Given the description of an element on the screen output the (x, y) to click on. 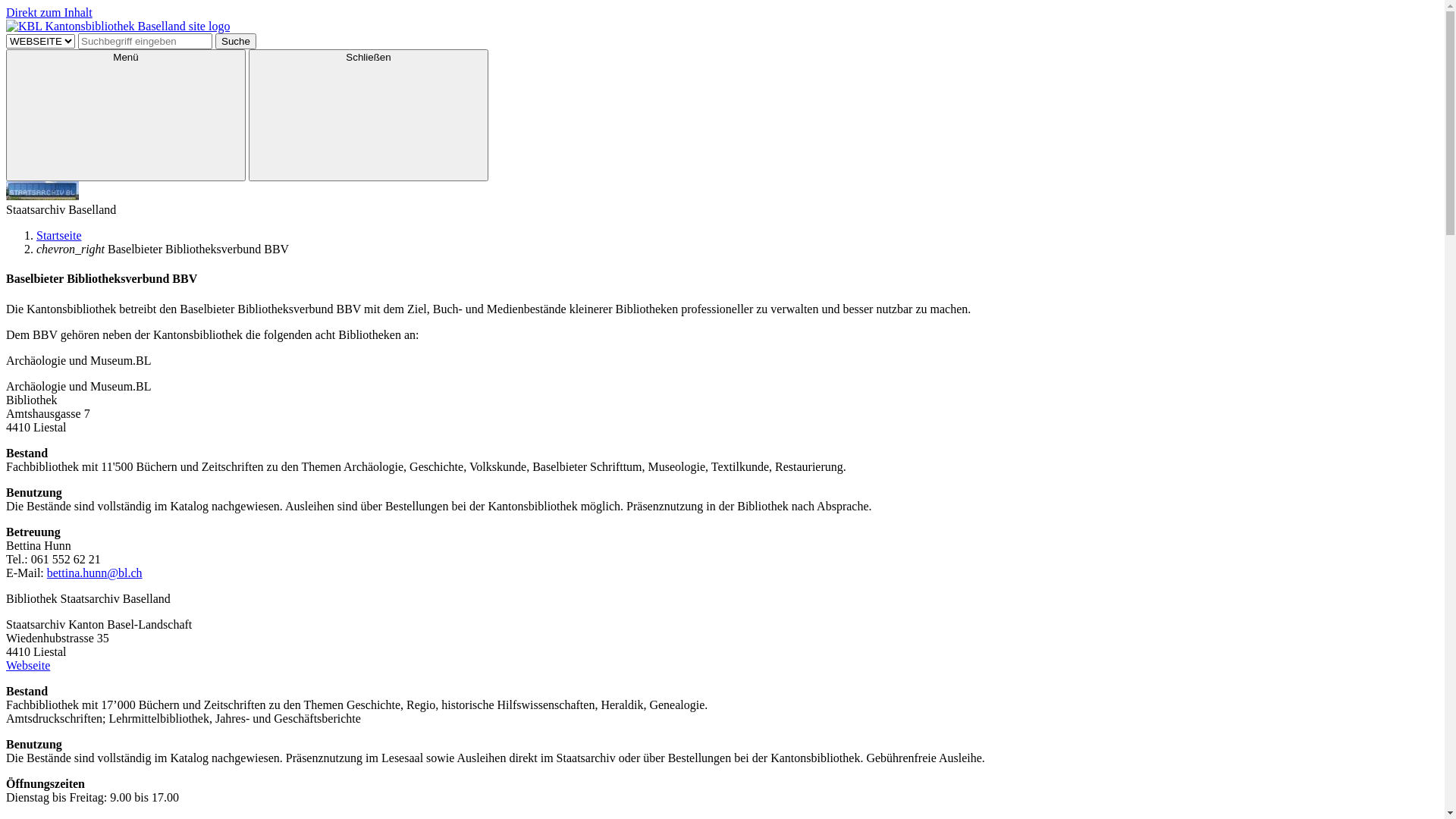
bettina.hunn@bl.ch Element type: text (94, 572)
Direkt zum Inhalt Element type: text (49, 12)
Startseite Element type: text (58, 235)
KBL Kantonsbibliothek Baselland Element type: hover (722, 26)
Webseite Element type: text (28, 664)
Suche Element type: text (235, 41)
